Given the description of an element on the screen output the (x, y) to click on. 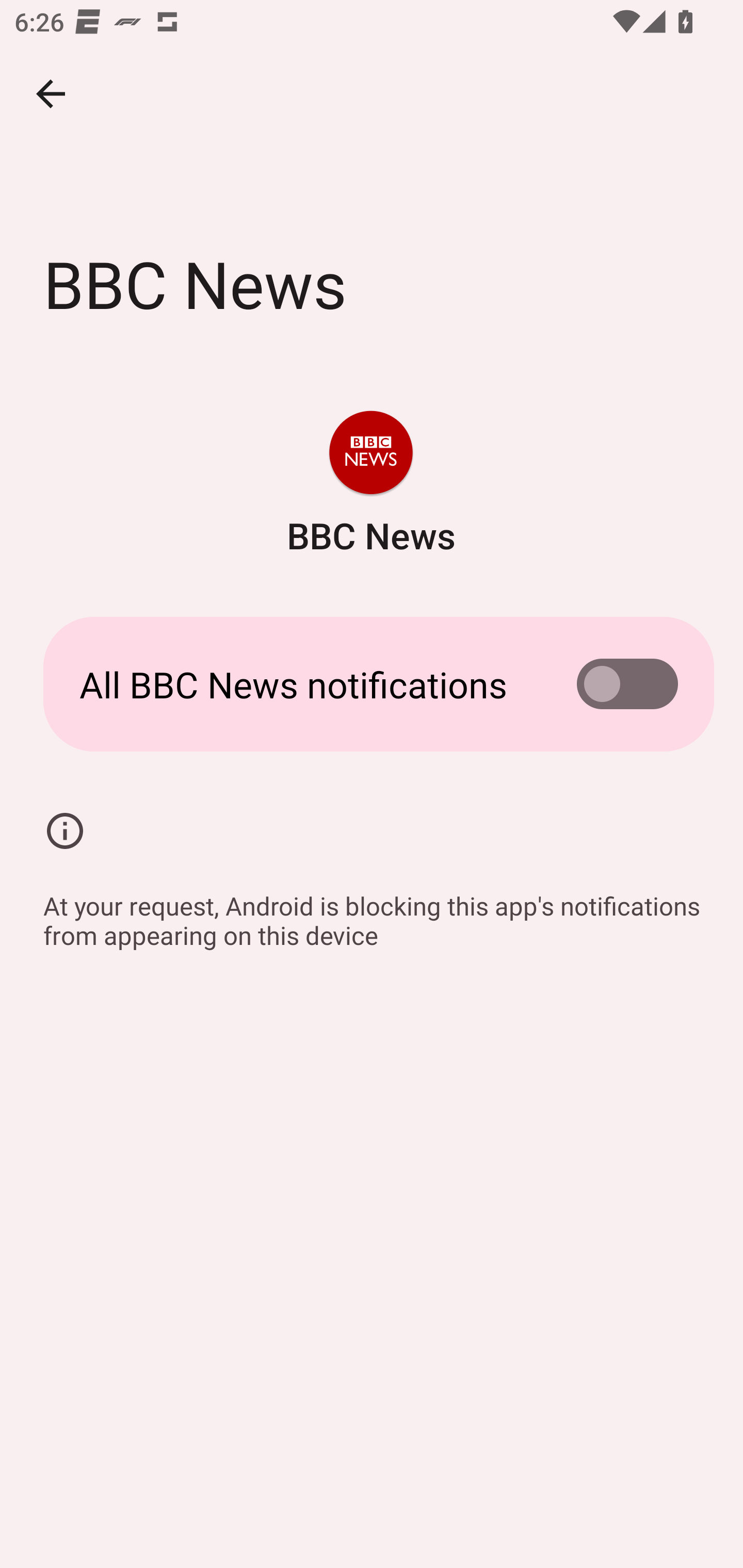
Navigate up (50, 93)
BBC News (370, 484)
All BBC News notifications (371, 684)
